Given the description of an element on the screen output the (x, y) to click on. 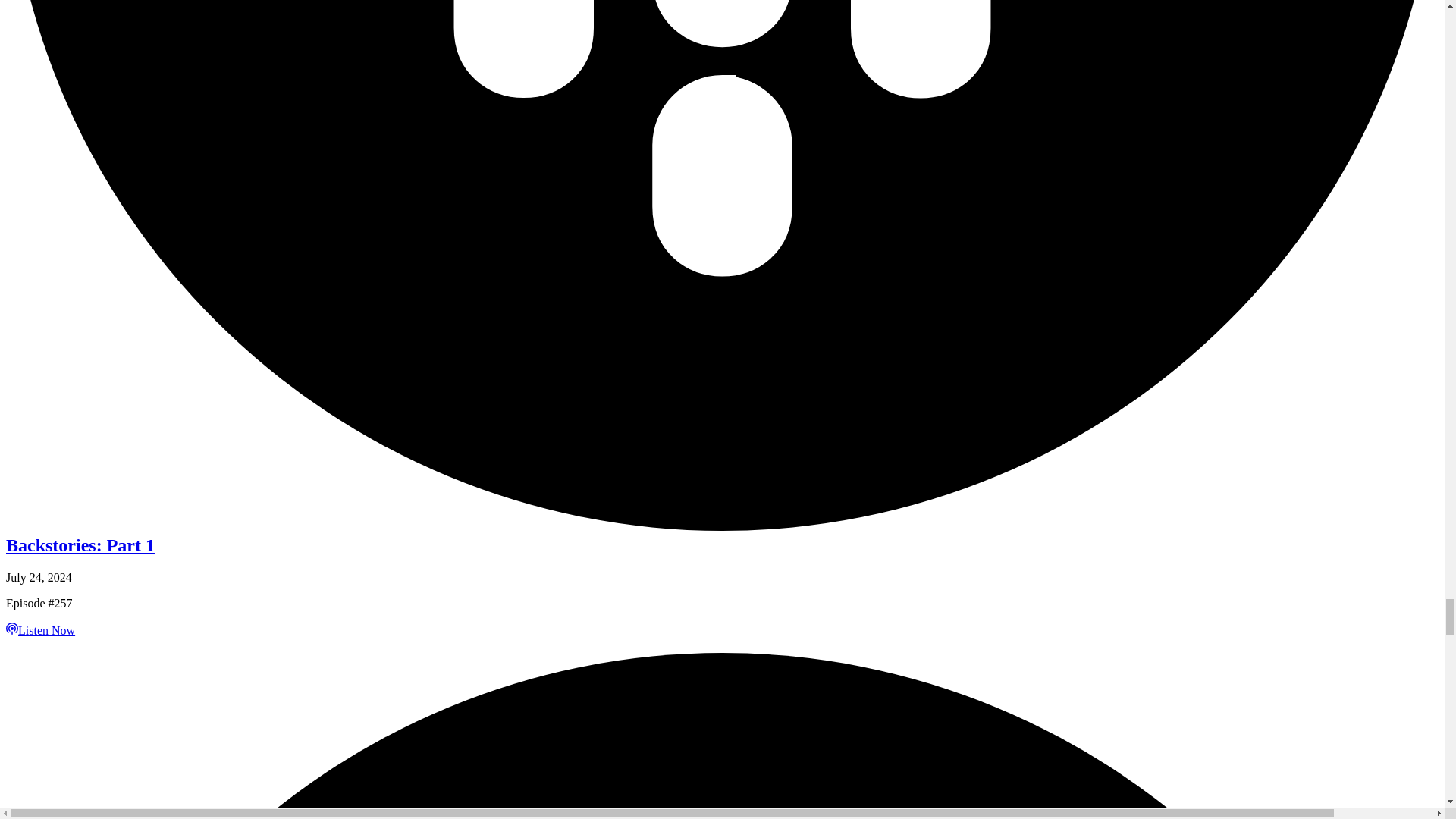
Listen Now (40, 630)
Backstories: Part 1 (79, 545)
